Given the description of an element on the screen output the (x, y) to click on. 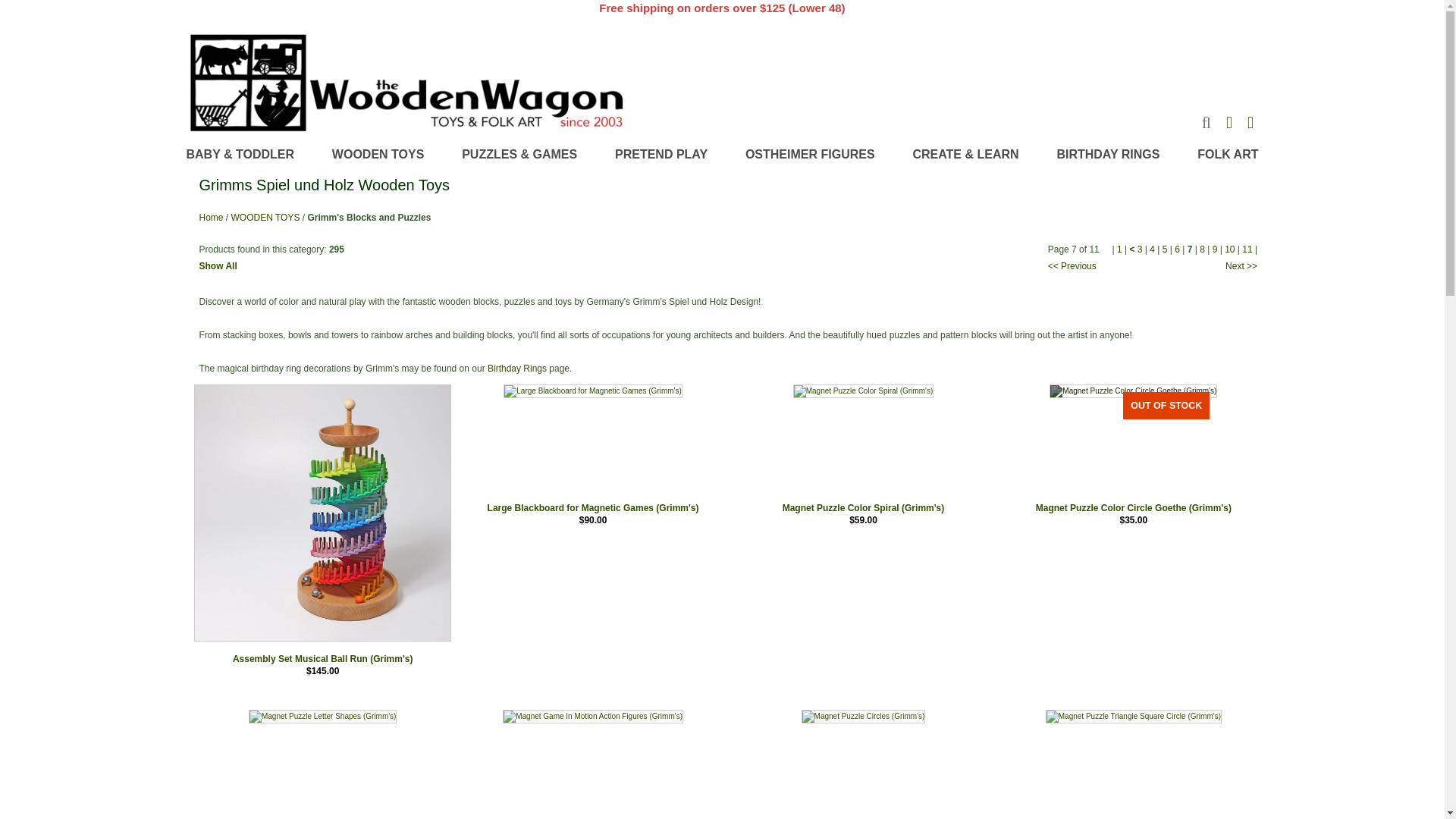
WOODEN TOYS (378, 154)
